Given the description of an element on the screen output the (x, y) to click on. 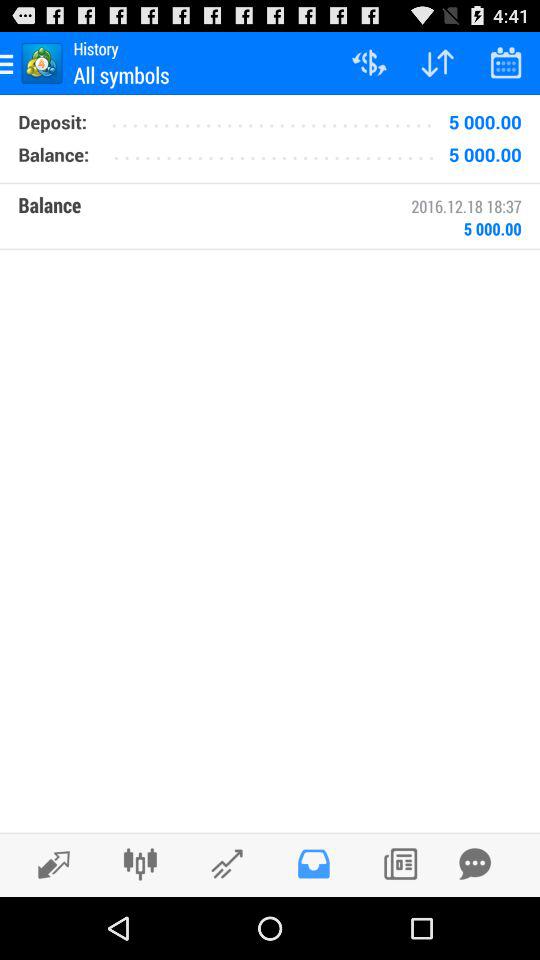
access messages (313, 863)
